Given the description of an element on the screen output the (x, y) to click on. 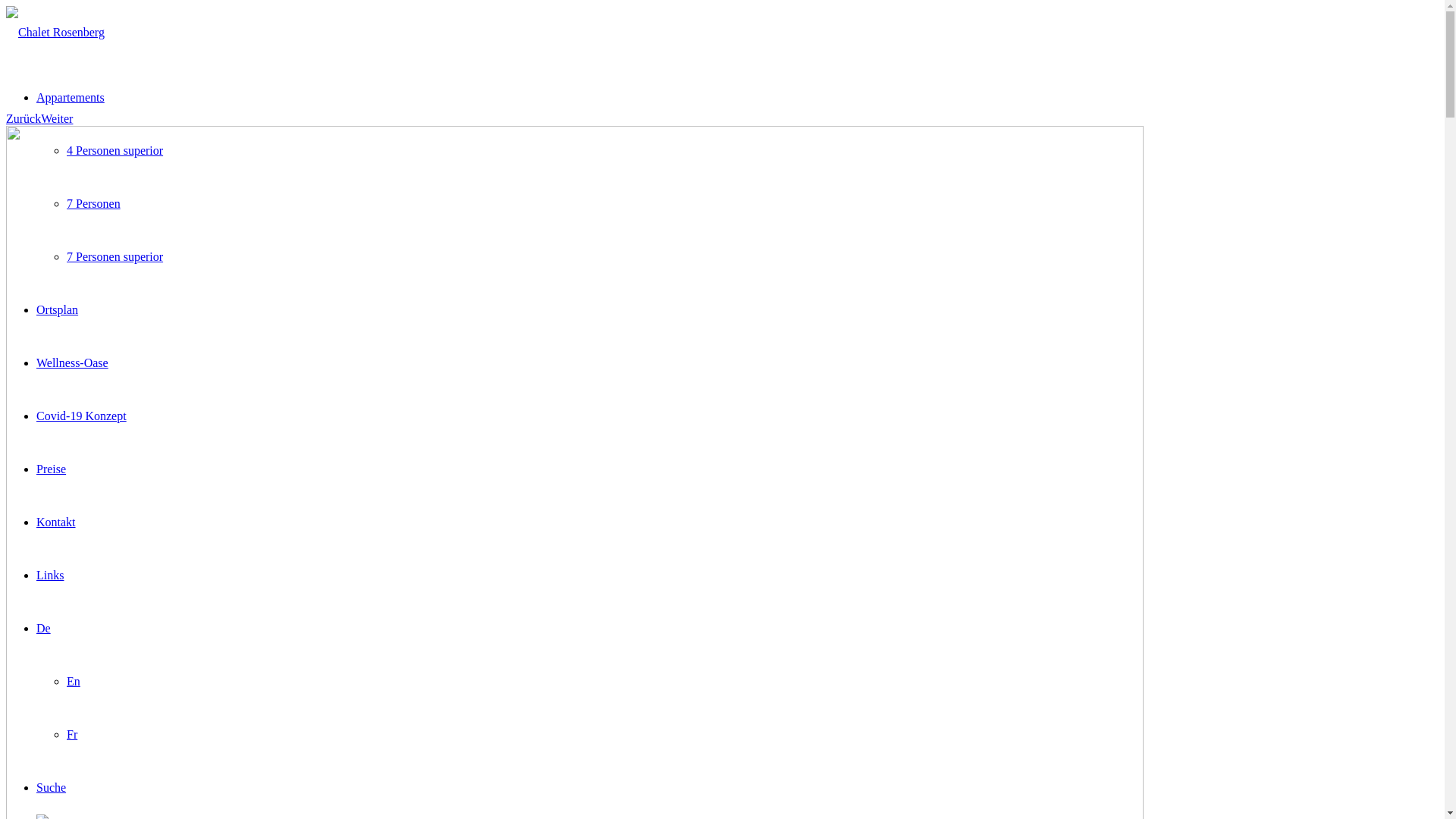
Covid-19 Konzept Element type: text (81, 415)
En Element type: text (73, 680)
4 Personen superior Element type: text (114, 150)
Wellness-Oase Element type: text (72, 362)
logo Element type: hover (55, 32)
Ortsplan Element type: text (57, 309)
Appartements Element type: text (70, 97)
Kontakt Element type: text (55, 521)
Links Element type: text (49, 574)
Suche Element type: text (50, 787)
Fr Element type: text (71, 734)
Weiter Element type: text (56, 118)
De Element type: text (43, 627)
7 Personen superior Element type: text (114, 256)
Preise Element type: text (50, 468)
7 Personen Element type: text (93, 203)
